Given the description of an element on the screen output the (x, y) to click on. 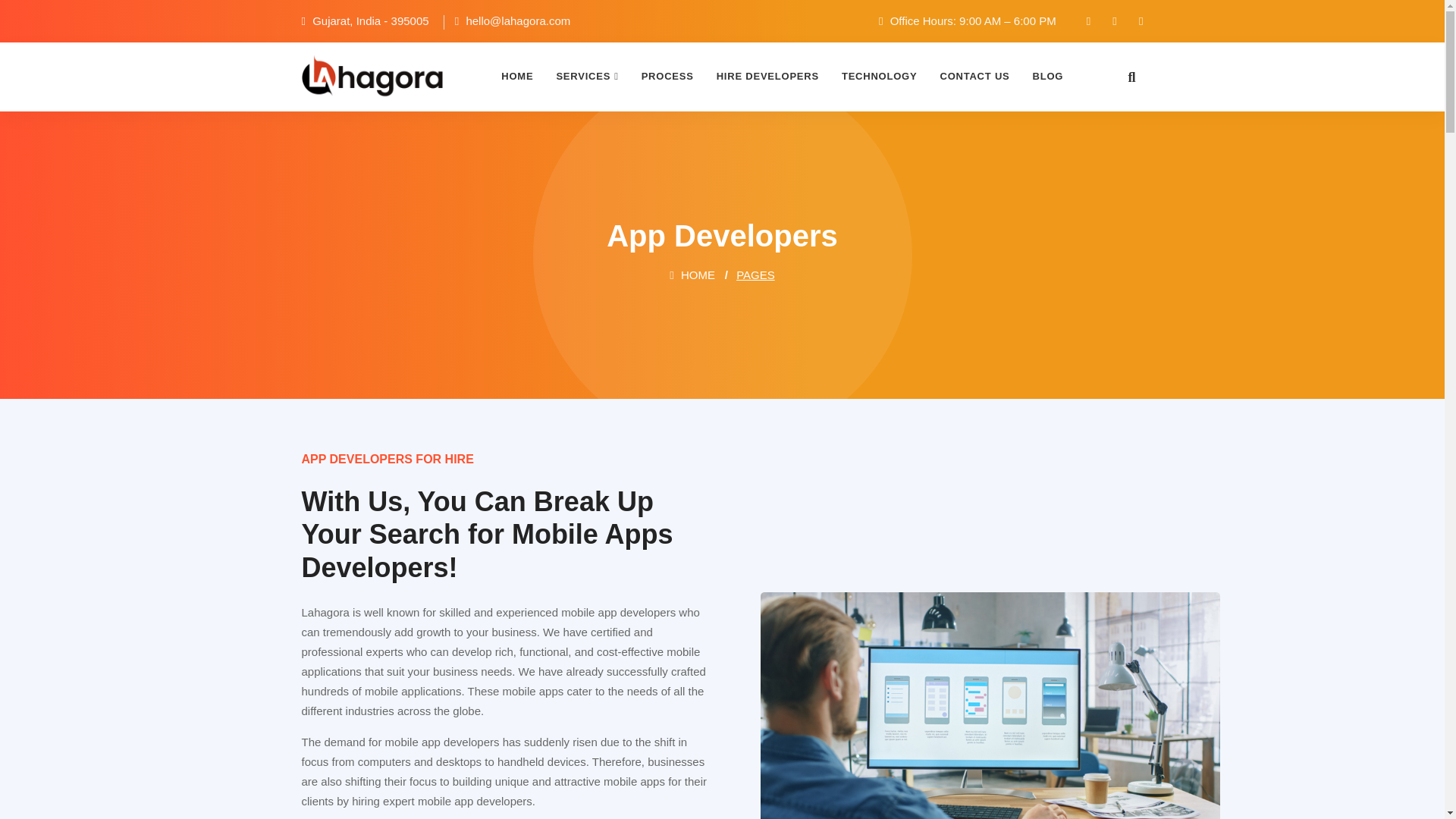
Services (586, 76)
Technology (878, 76)
Process (667, 76)
Contact Us (974, 76)
PROCESS (667, 76)
HIRE DEVELOPERS (766, 76)
SERVICES (586, 76)
